Given the description of an element on the screen output the (x, y) to click on. 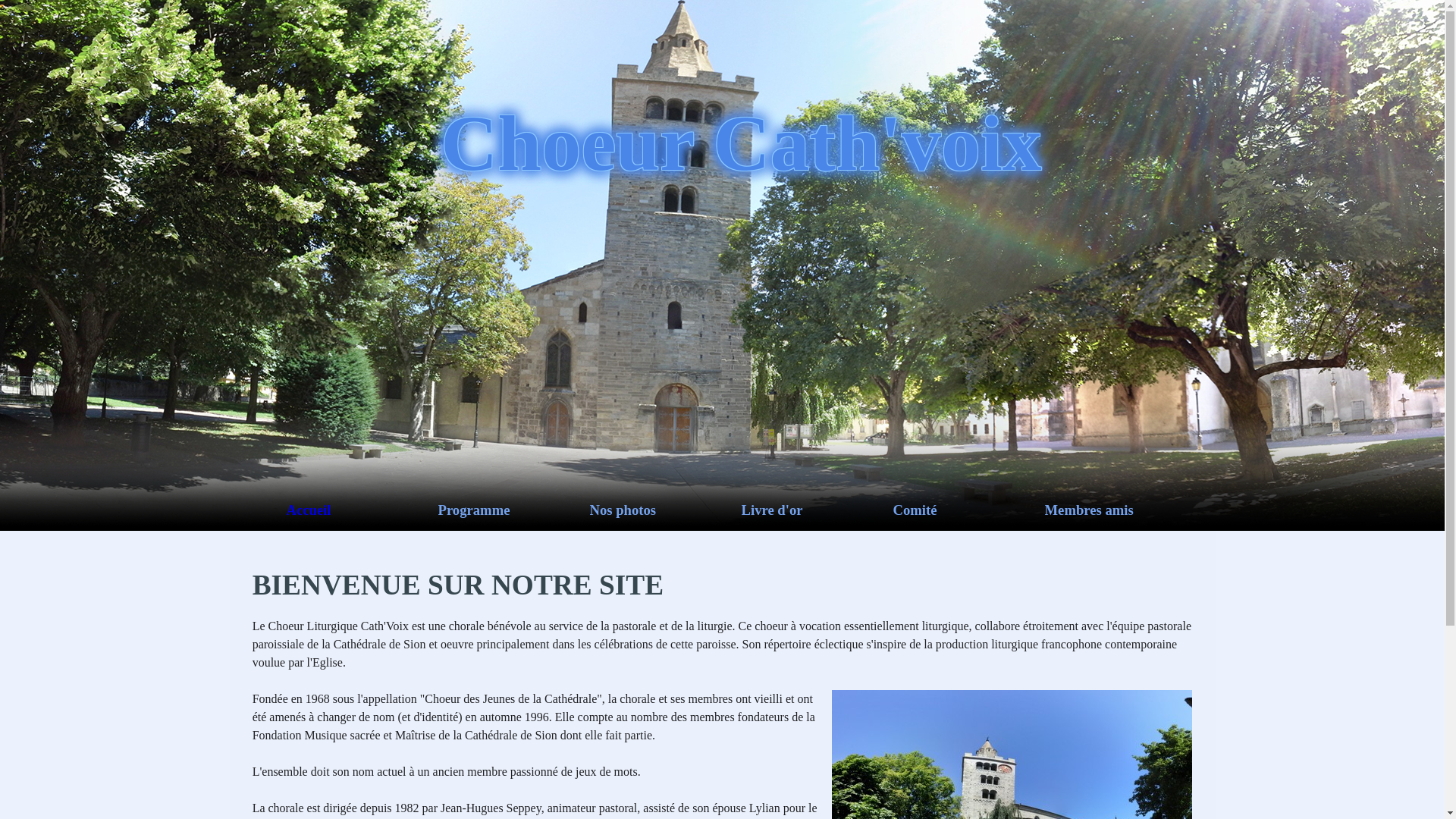
Livre d'or Element type: text (817, 509)
Accueil Element type: text (362, 509)
Programme Element type: text (513, 509)
Nos photos Element type: text (665, 509)
Membres amis Element type: text (1120, 509)
